Given the description of an element on the screen output the (x, y) to click on. 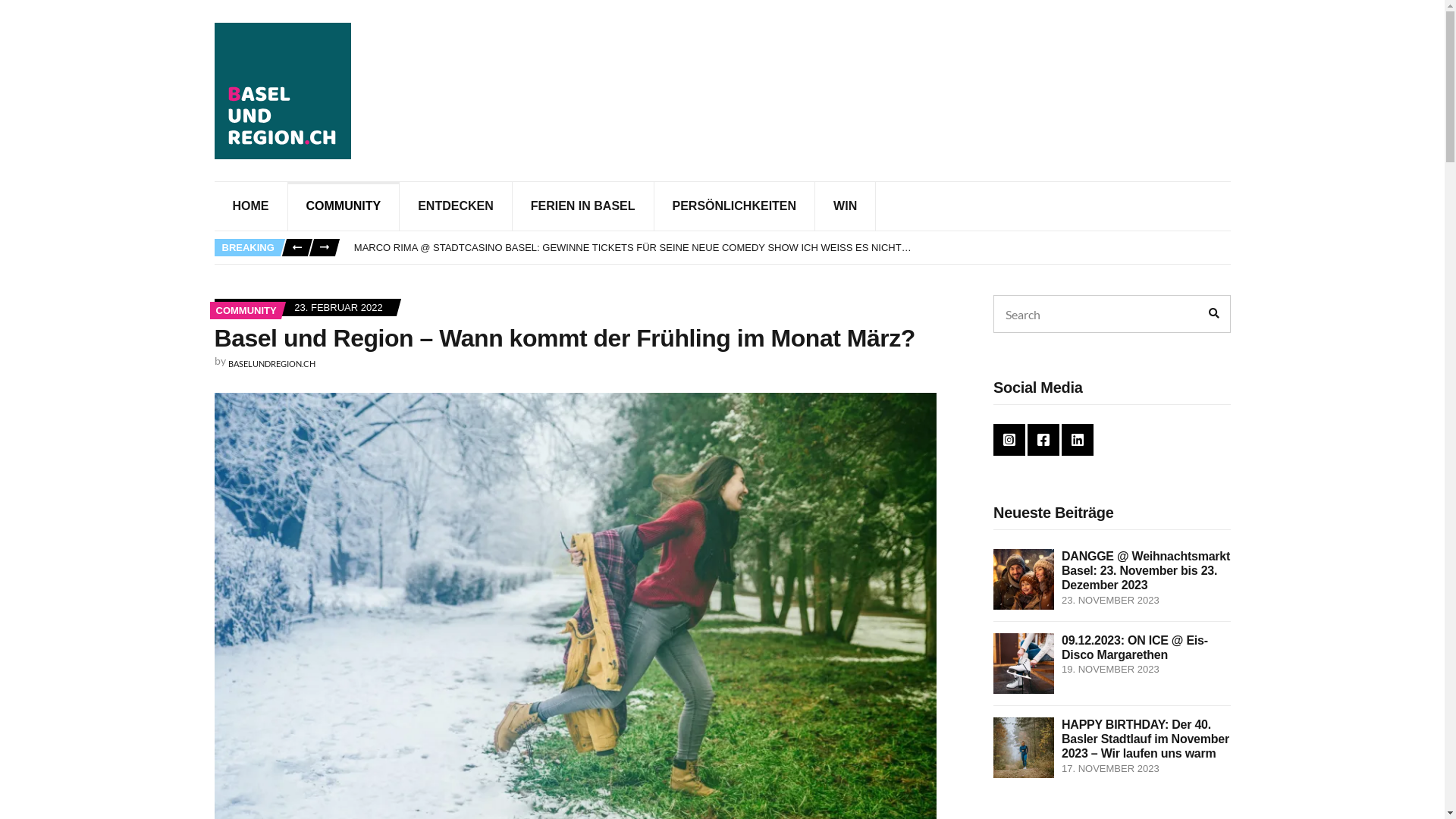
COMMUNITY Element type: text (344, 206)
HOME Element type: text (250, 206)
Search Element type: text (1213, 313)
FACEBOOK Element type: text (1043, 439)
INSTAGRAM Element type: text (1009, 439)
FERIEN IN BASEL Element type: text (583, 206)
WIN Element type: text (845, 206)
09.12.2023: ON ICE @ Eis-Disco Margarethen Element type: text (1134, 647)
COMMUNITY Element type: text (245, 310)
ENTDECKEN Element type: text (455, 206)
BASELUNDREGION.CH Element type: text (270, 363)
LINKEDIN Element type: text (1077, 439)
